Given the description of an element on the screen output the (x, y) to click on. 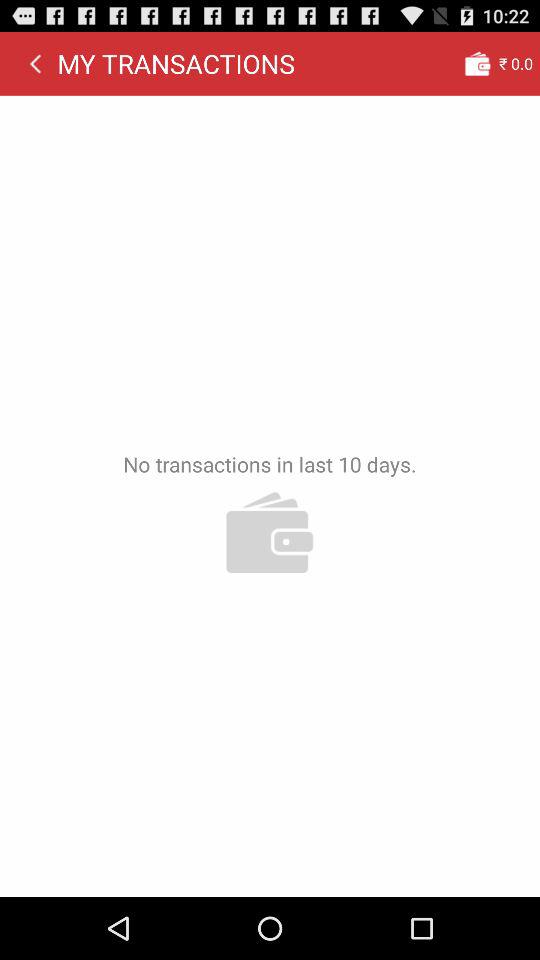
go back (35, 63)
